Given the description of an element on the screen output the (x, y) to click on. 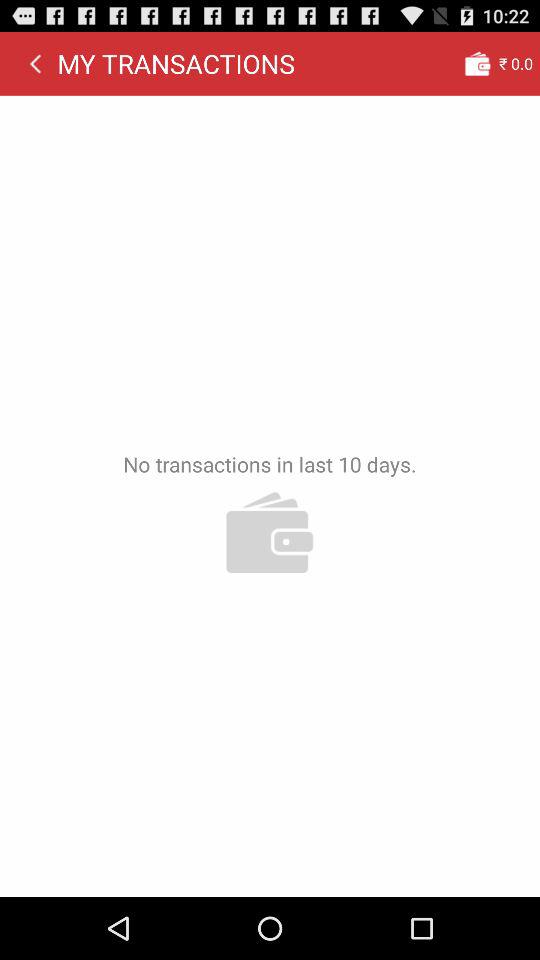
go back (35, 63)
